Given the description of an element on the screen output the (x, y) to click on. 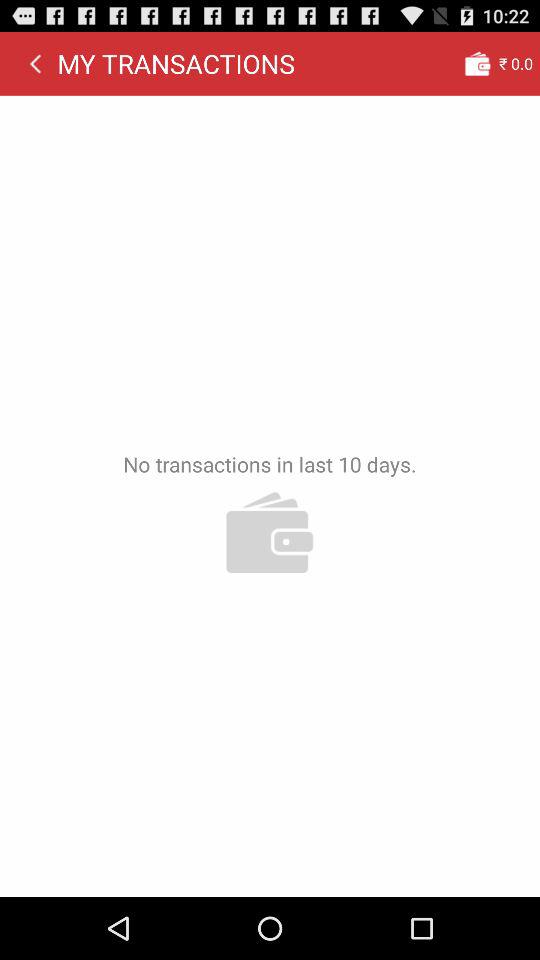
go back (35, 63)
